Given the description of an element on the screen output the (x, y) to click on. 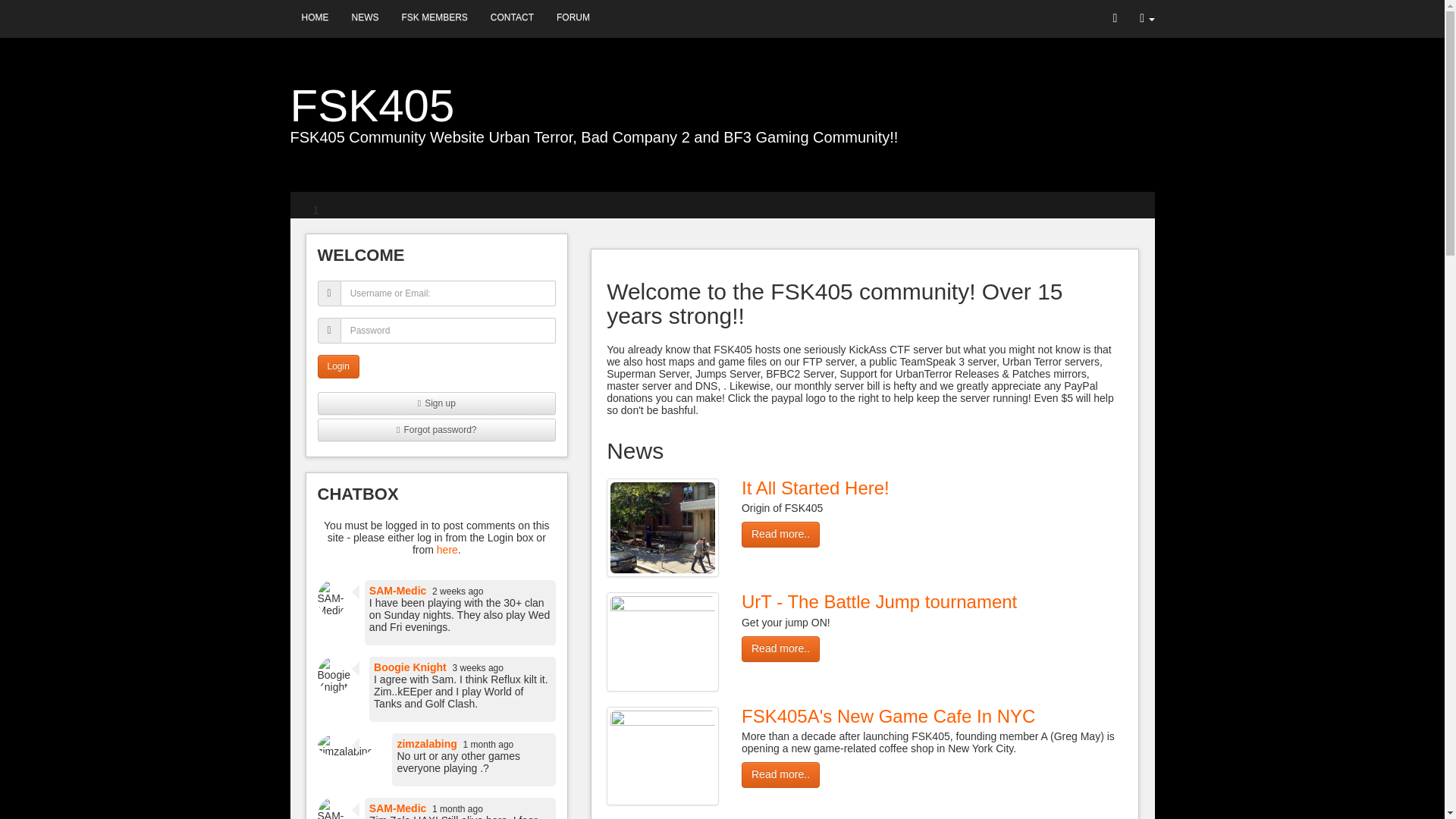
here (447, 549)
HOME (314, 17)
Forgot password? (439, 429)
FSK405 (371, 105)
SAM-Medic (397, 590)
SAM-Medic (397, 808)
Login (337, 366)
Forgot password? (439, 429)
CONTACT (511, 17)
Sign up (440, 403)
NEWS (364, 17)
FORUM (572, 17)
zimzalabing (426, 743)
Sign up (436, 403)
Forgot password? (436, 429)
